Given the description of an element on the screen output the (x, y) to click on. 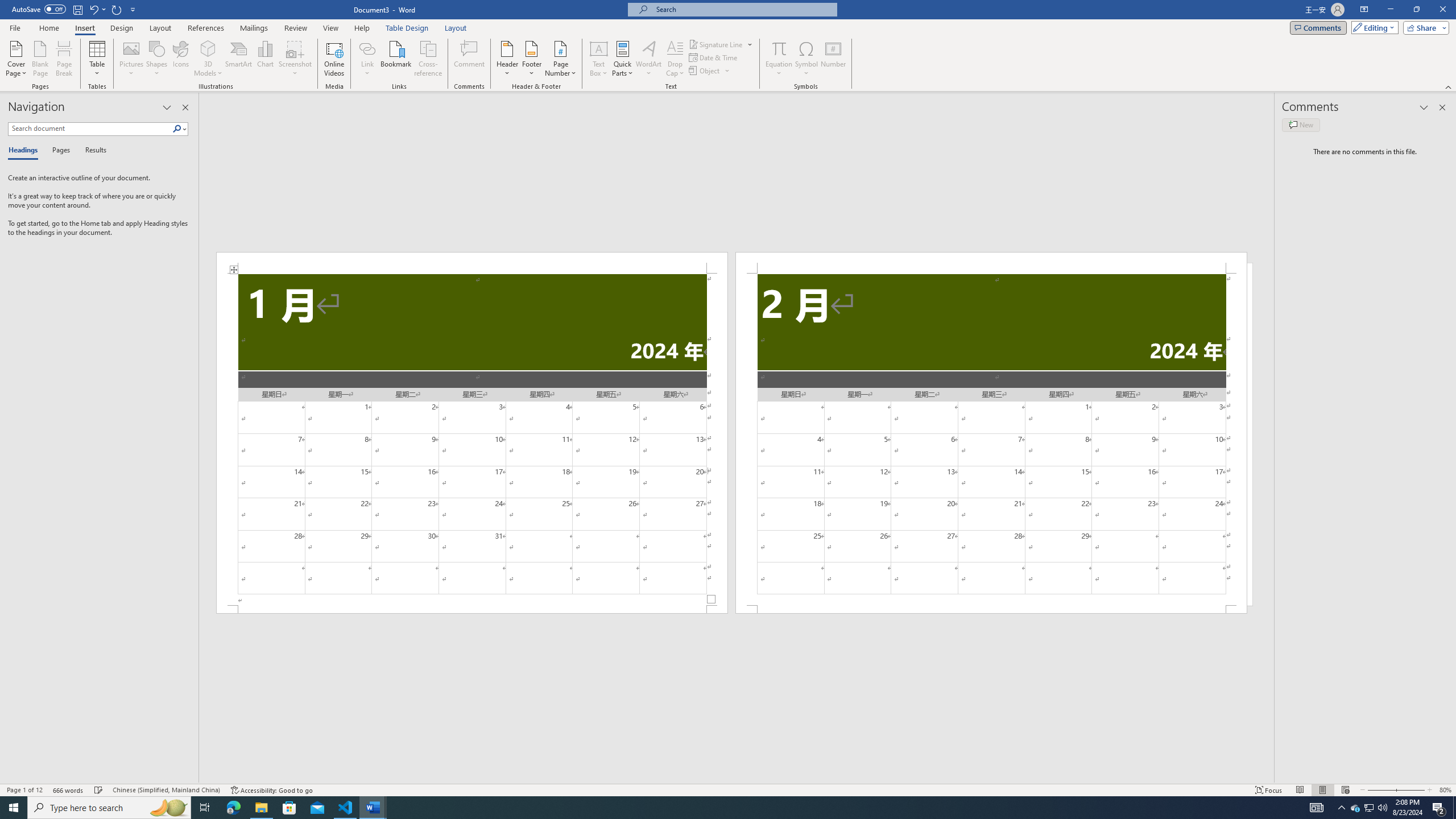
Drop Cap (674, 58)
Date & Time... (714, 56)
Page 1 content (471, 439)
Footer -Section 2- (991, 609)
